Given the description of an element on the screen output the (x, y) to click on. 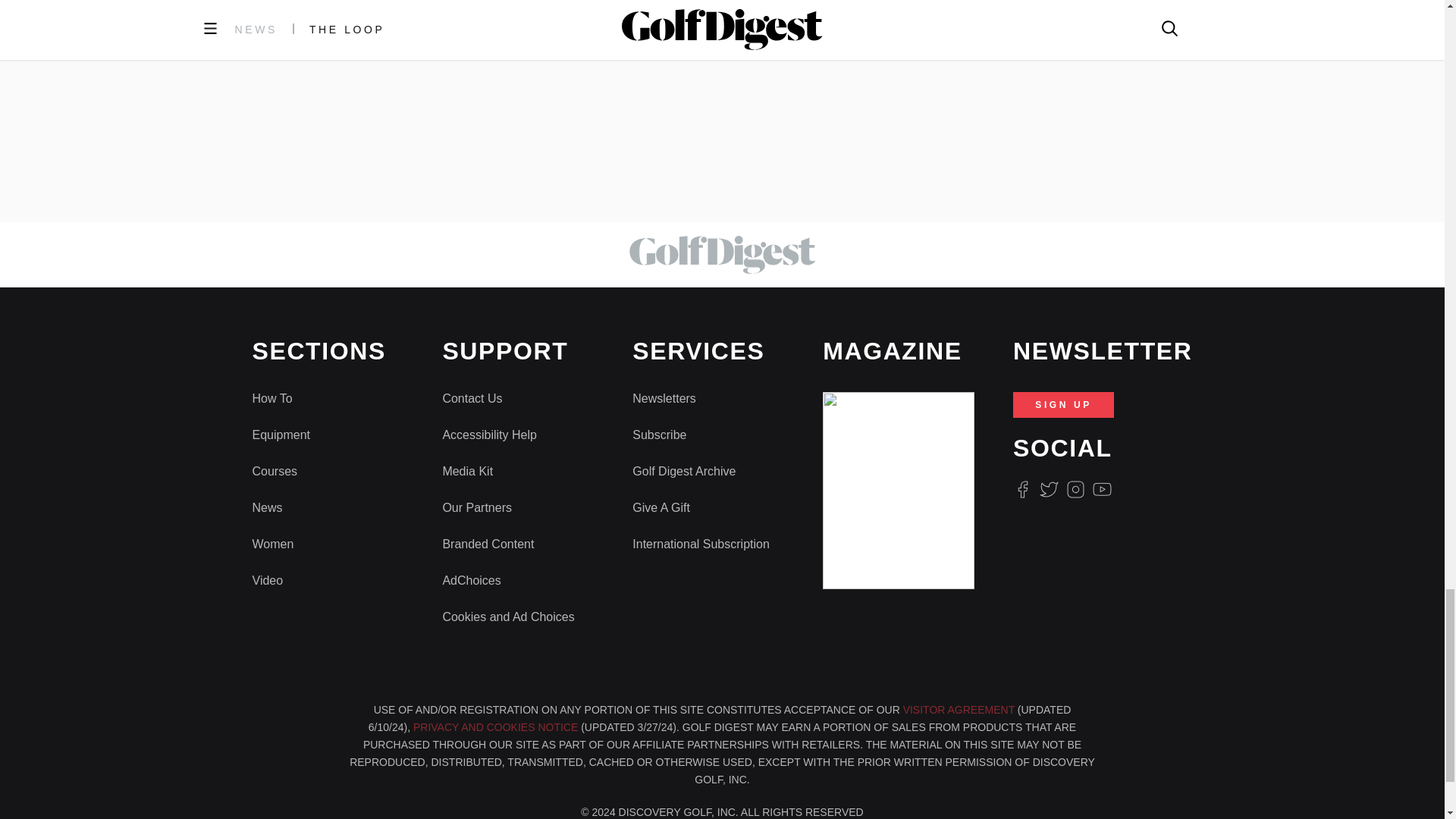
Twitter Logo (1048, 488)
Facebook Logo (1022, 488)
Youtube Icon (1102, 488)
Instagram Logo (1074, 488)
